Given the description of an element on the screen output the (x, y) to click on. 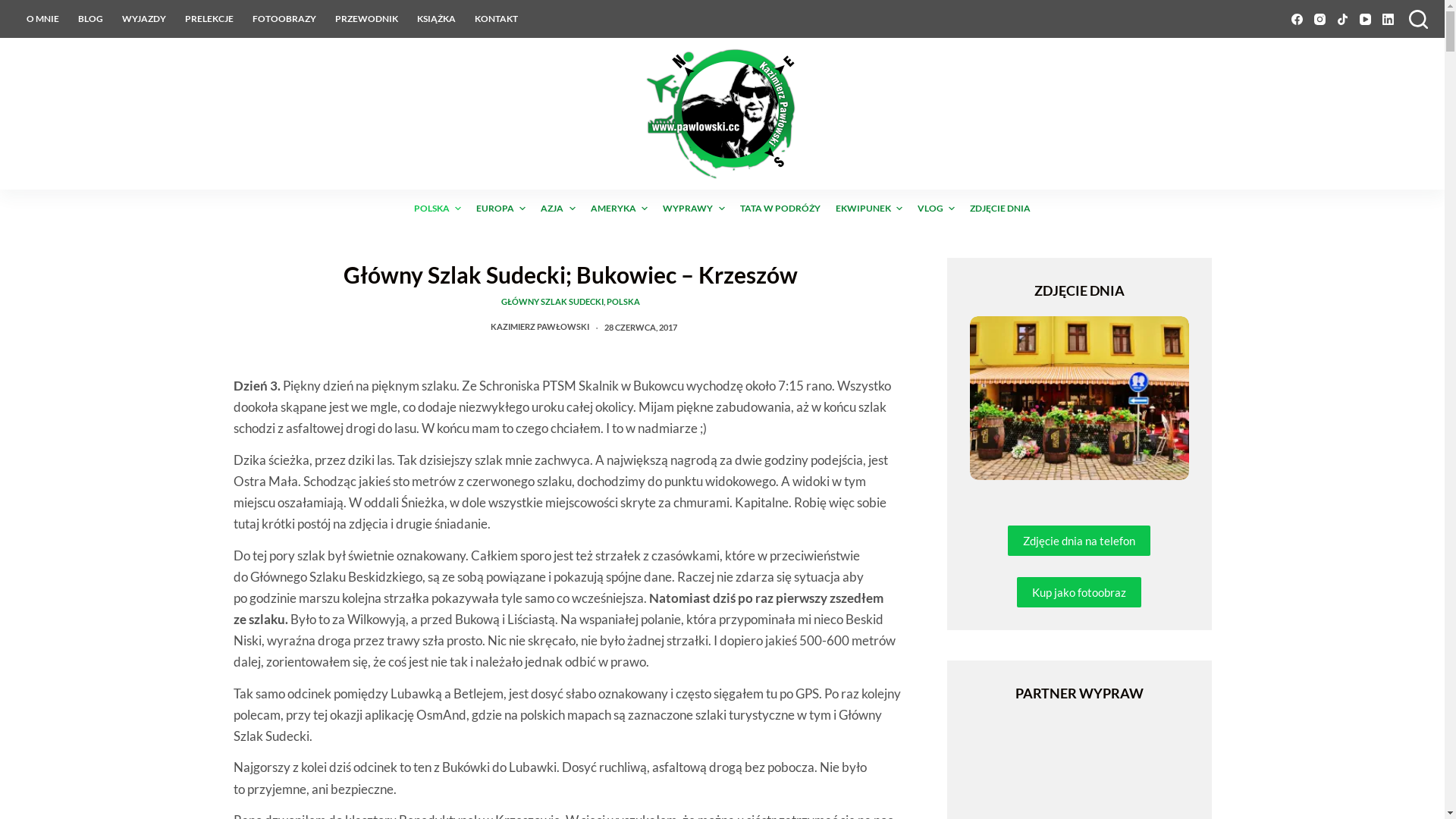
FOTOOBRAZY Element type: text (283, 18)
POLSKA Element type: text (623, 301)
WYJAZDY Element type: text (143, 18)
KONTAKT Element type: text (496, 18)
O MNIE Element type: text (42, 18)
POLSKA Element type: text (437, 208)
EKWIPUNEK Element type: text (869, 208)
PRZEWODNIK Element type: text (366, 18)
AZJA Element type: text (557, 208)
PRELEKCJE Element type: text (209, 18)
Kup jako fotoobraz Element type: text (1078, 592)
AMERYKA Element type: text (619, 208)
WYPRAWY Element type: text (693, 208)
EUROPA Element type: text (500, 208)
BLOG Element type: text (90, 18)
VLOG Element type: text (936, 208)
